Given the description of an element on the screen output the (x, y) to click on. 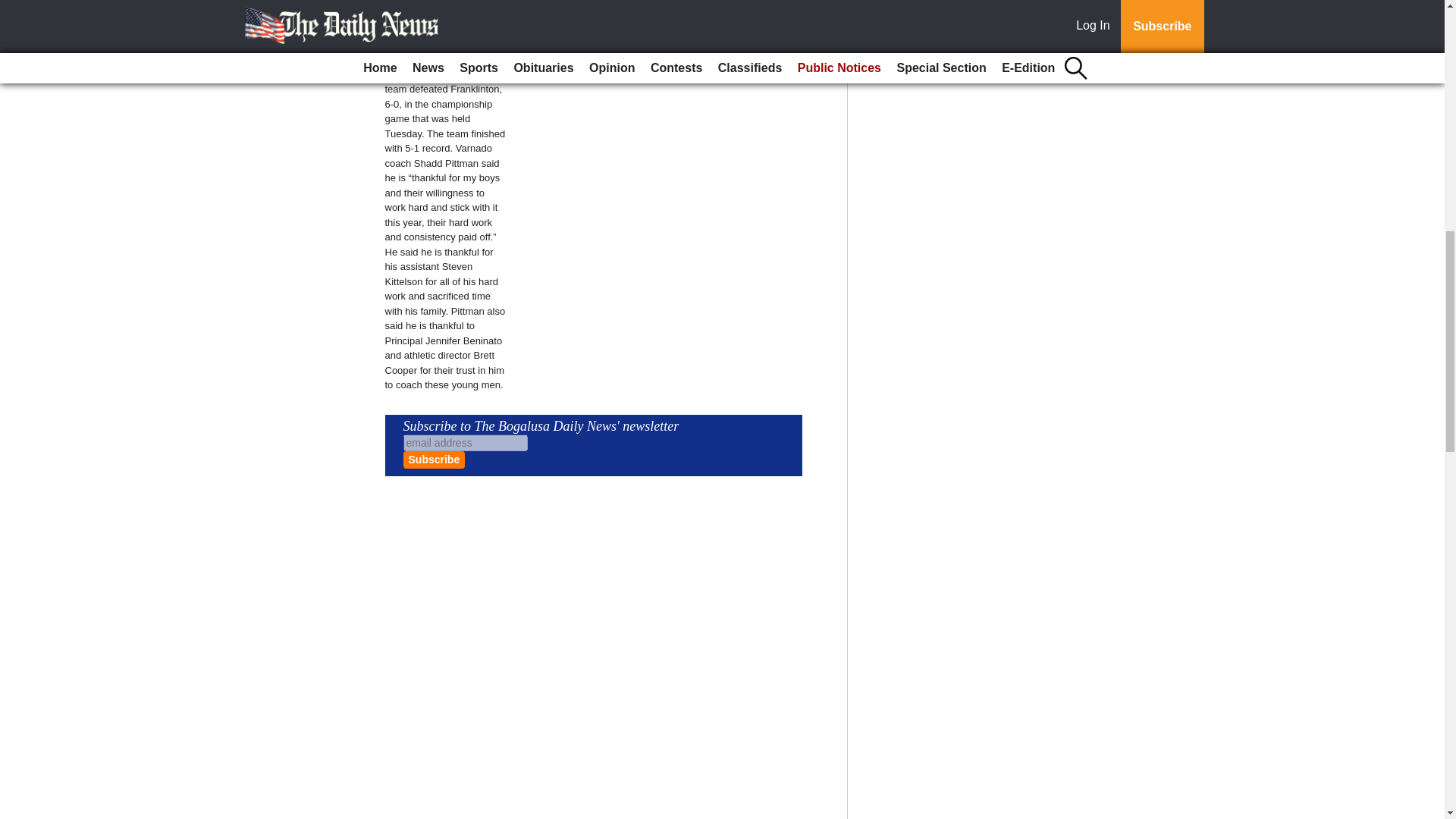
Subscribe (434, 459)
Subscribe (434, 459)
